Given the description of an element on the screen output the (x, y) to click on. 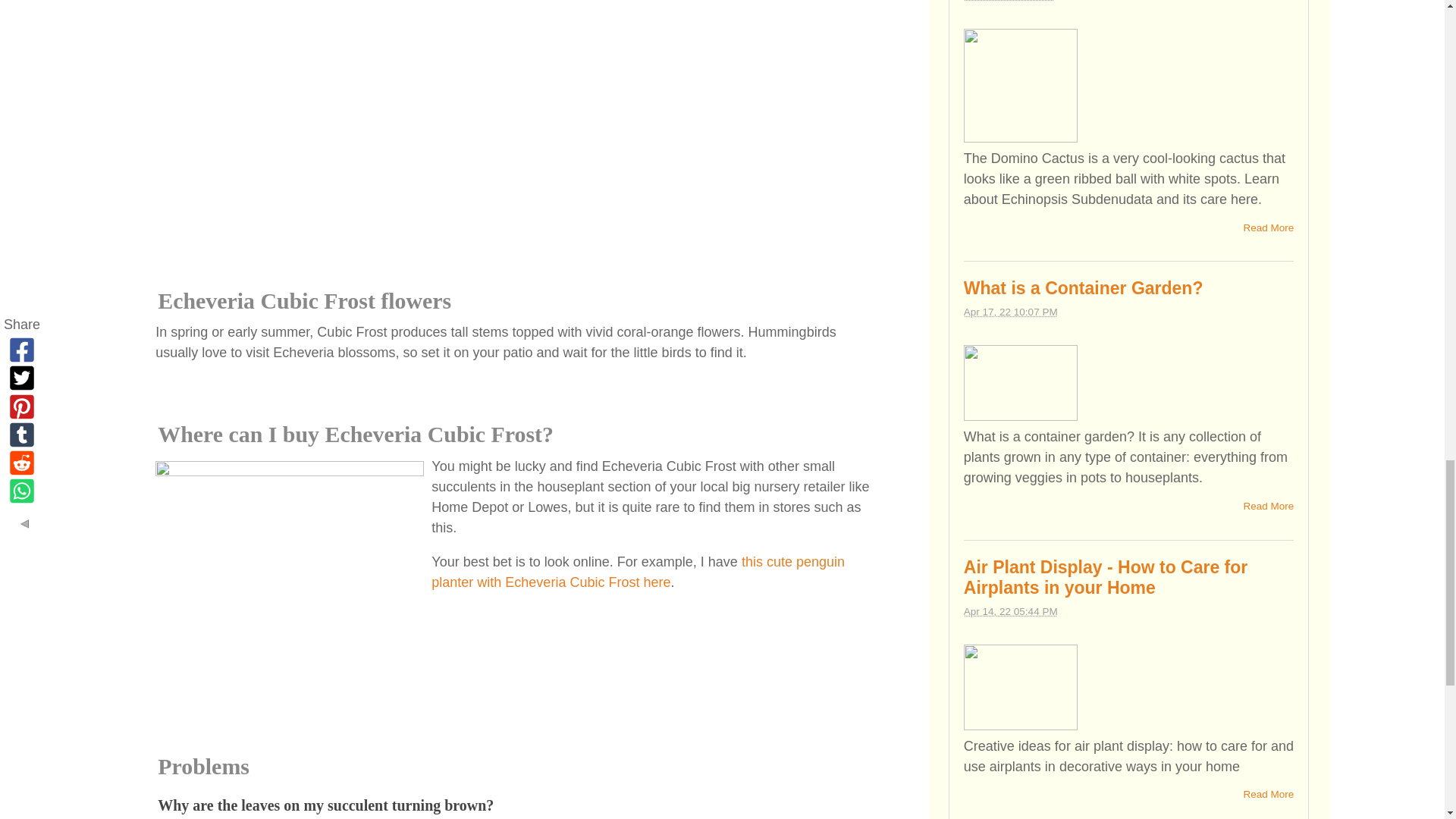
2022-04-17T22:07:25-0400 (1010, 311)
this cute penguin planter with Echeveria Cubic Frost here (637, 571)
2022-04-14T17:44:18-0400 (1010, 611)
